Given the description of an element on the screen output the (x, y) to click on. 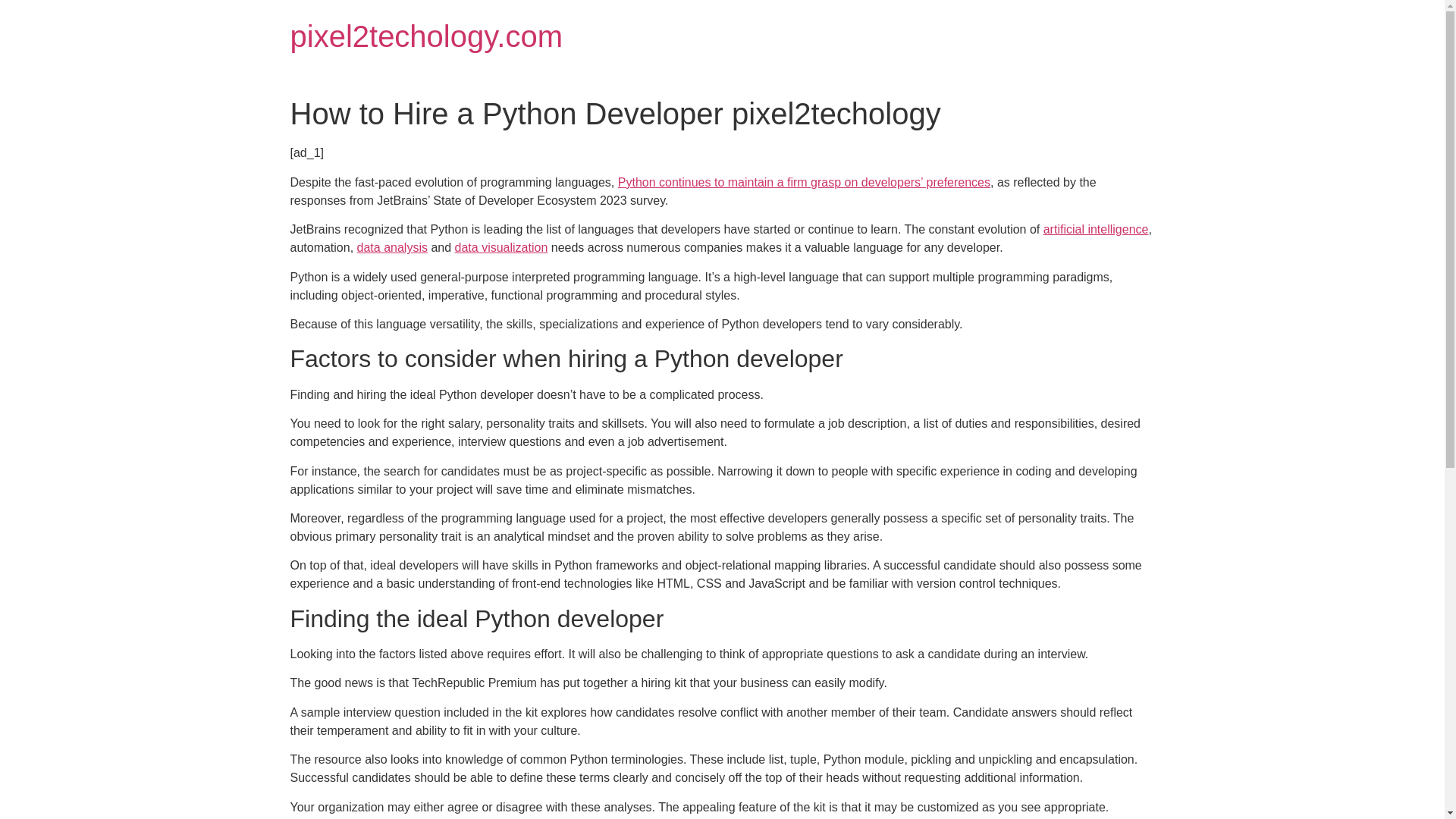
data visualization (501, 246)
Home (425, 36)
artificial intelligence (1095, 228)
data analysis (392, 246)
pixel2techology.com (425, 36)
